Given the description of an element on the screen output the (x, y) to click on. 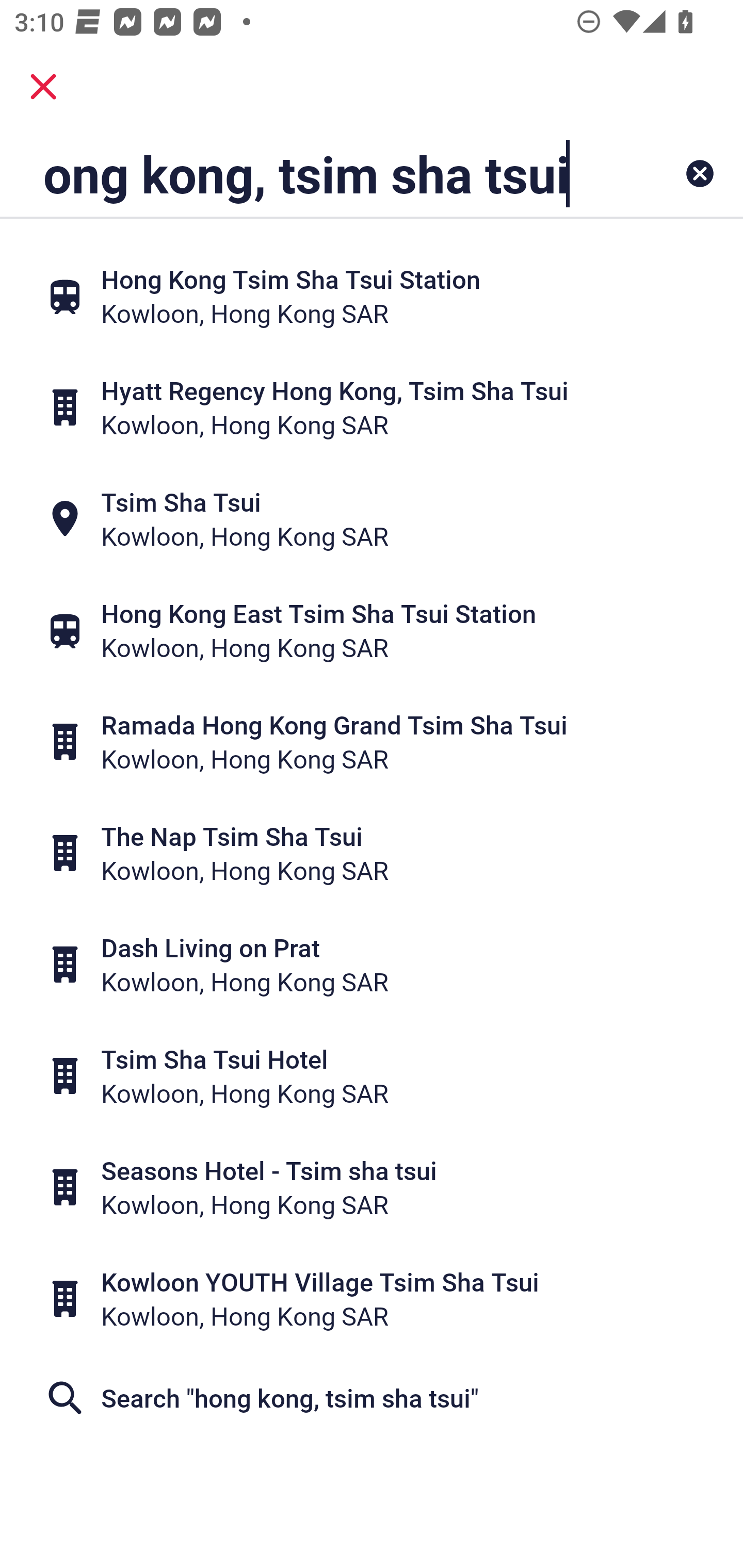
close. (43, 86)
Clear (699, 173)
hong kong, tsim sha tsui (306, 173)
Tsim Sha Tsui Kowloon, Hong Kong SAR (371, 517)
The Nap Tsim Sha Tsui Kowloon, Hong Kong SAR (371, 853)
Dash Living on Prat Kowloon, Hong Kong SAR (371, 964)
Tsim Sha Tsui Hotel Kowloon, Hong Kong SAR (371, 1076)
Search "hong kong, tsim sha tsui" (371, 1397)
